Given the description of an element on the screen output the (x, y) to click on. 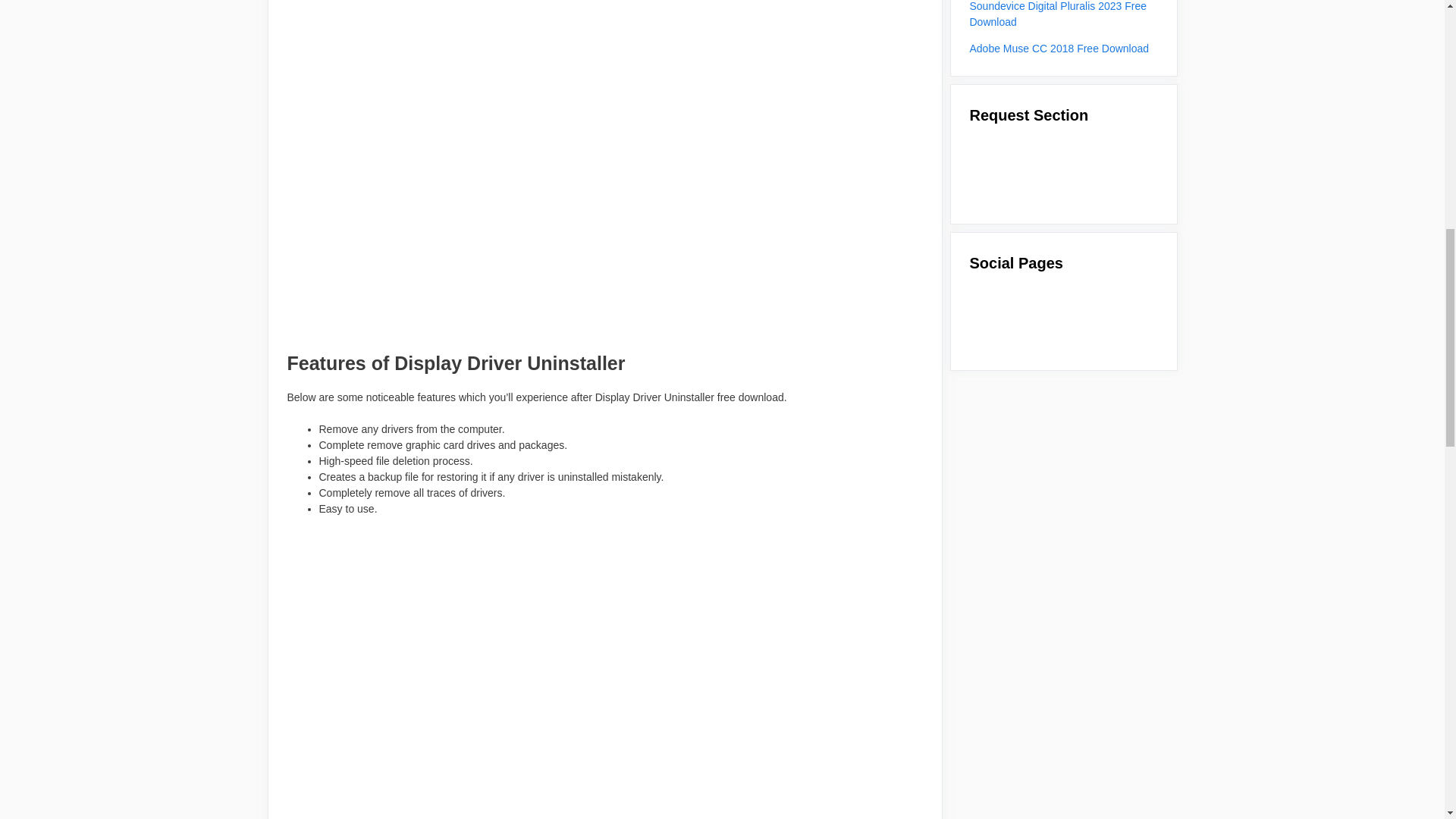
Scroll back to top (1406, 720)
